Given the description of an element on the screen output the (x, y) to click on. 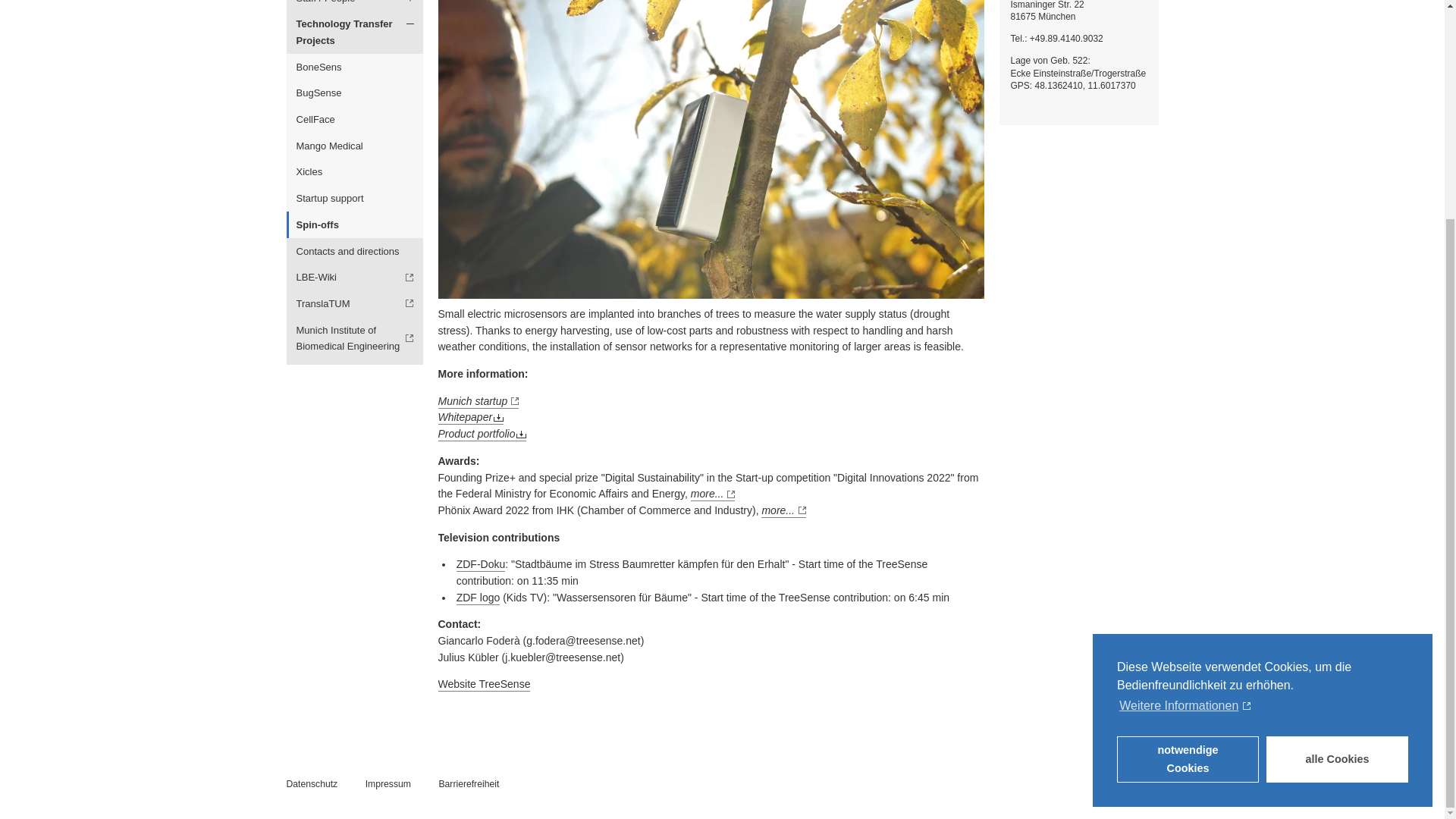
LBE-Wiki (354, 277)
Startup support (354, 198)
CellFace (354, 120)
more... (783, 510)
ZDF logo (478, 598)
Externer Link (354, 303)
Xicles (354, 171)
Munich startup (478, 401)
Whitepaper (470, 418)
Technology Transfer Projects (354, 32)
